Given the description of an element on the screen output the (x, y) to click on. 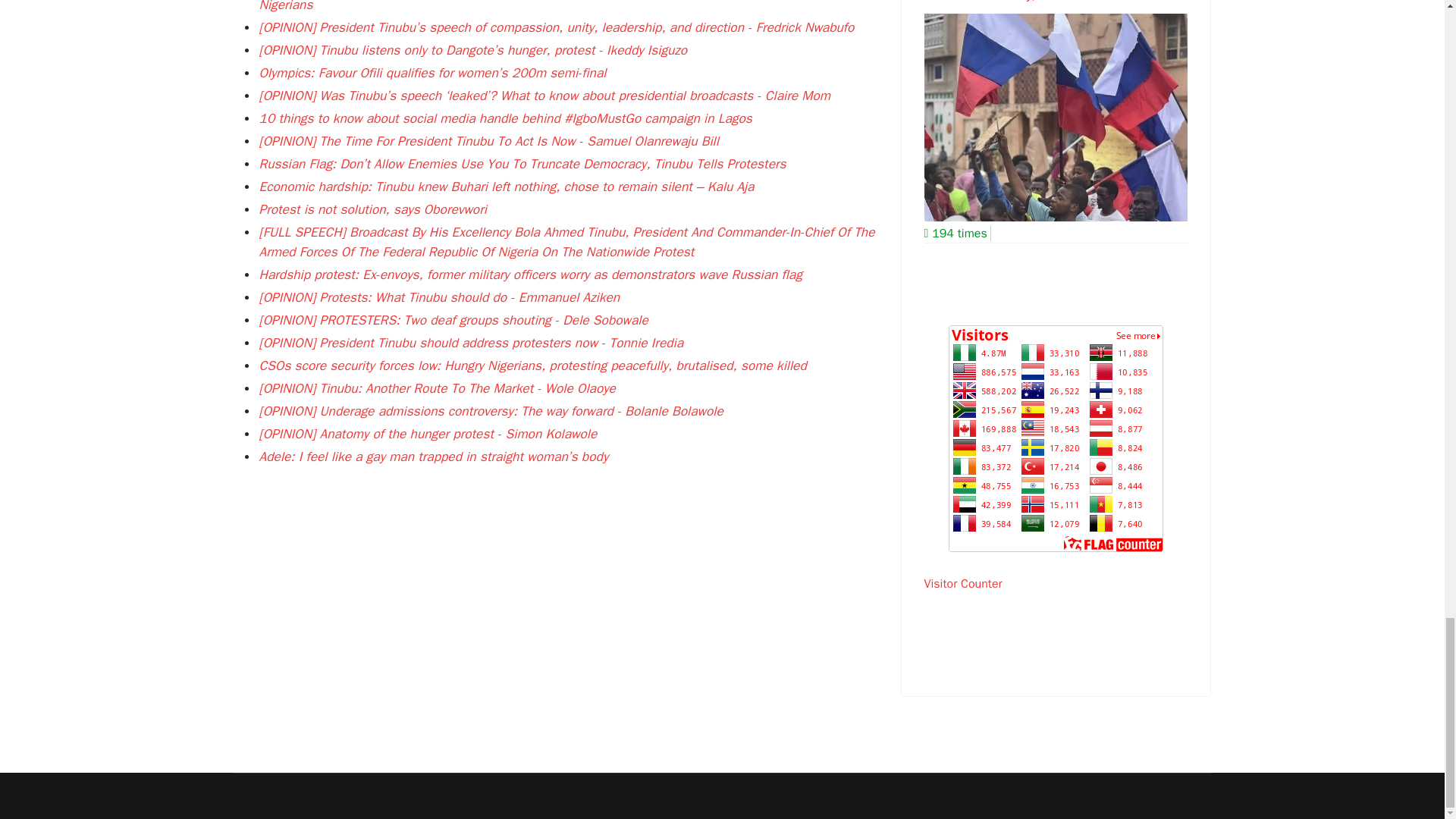
Protest is not solution, says Oborevwori (372, 208)
